Given the description of an element on the screen output the (x, y) to click on. 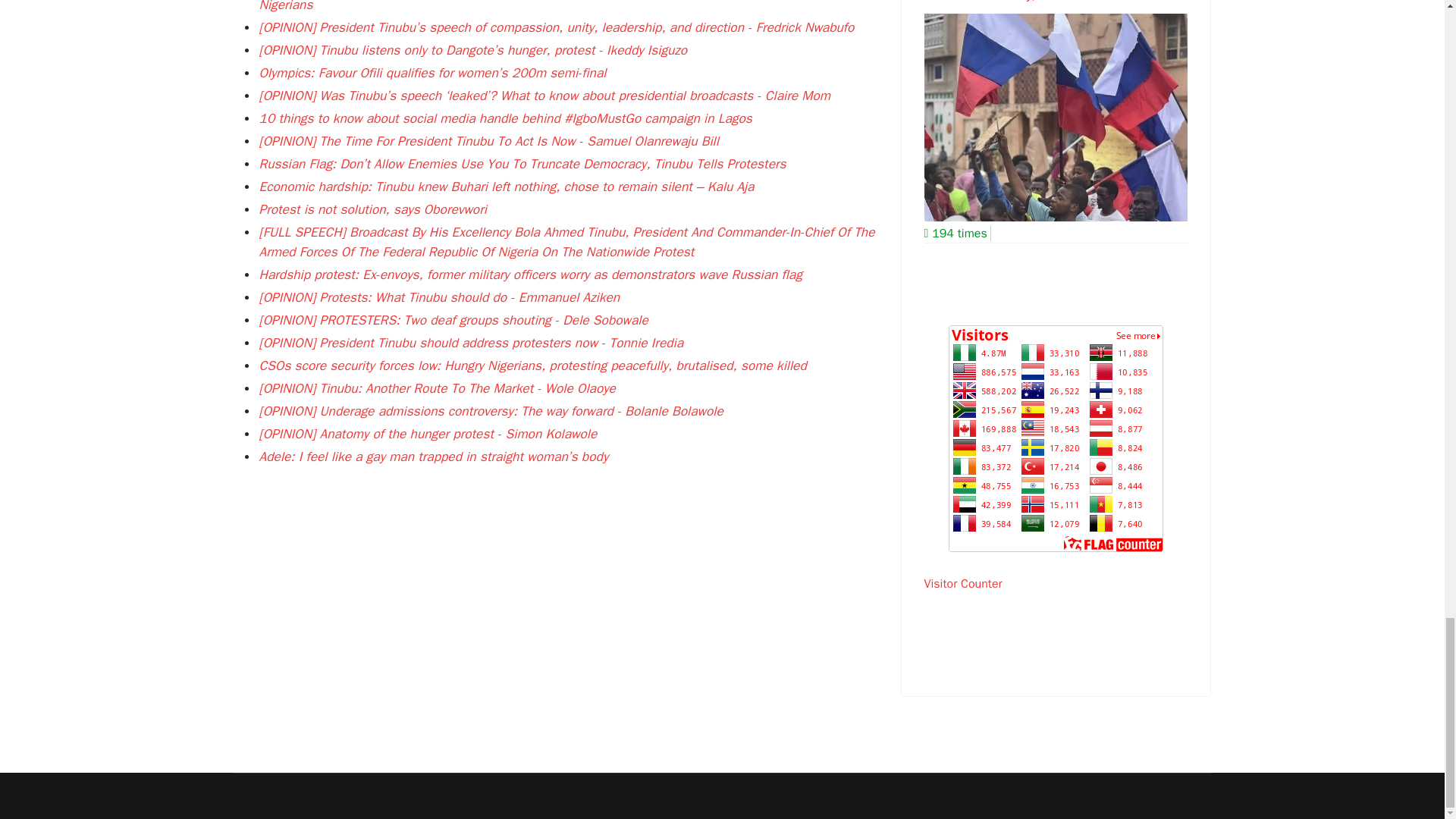
Protest is not solution, says Oborevwori (372, 208)
